Given the description of an element on the screen output the (x, y) to click on. 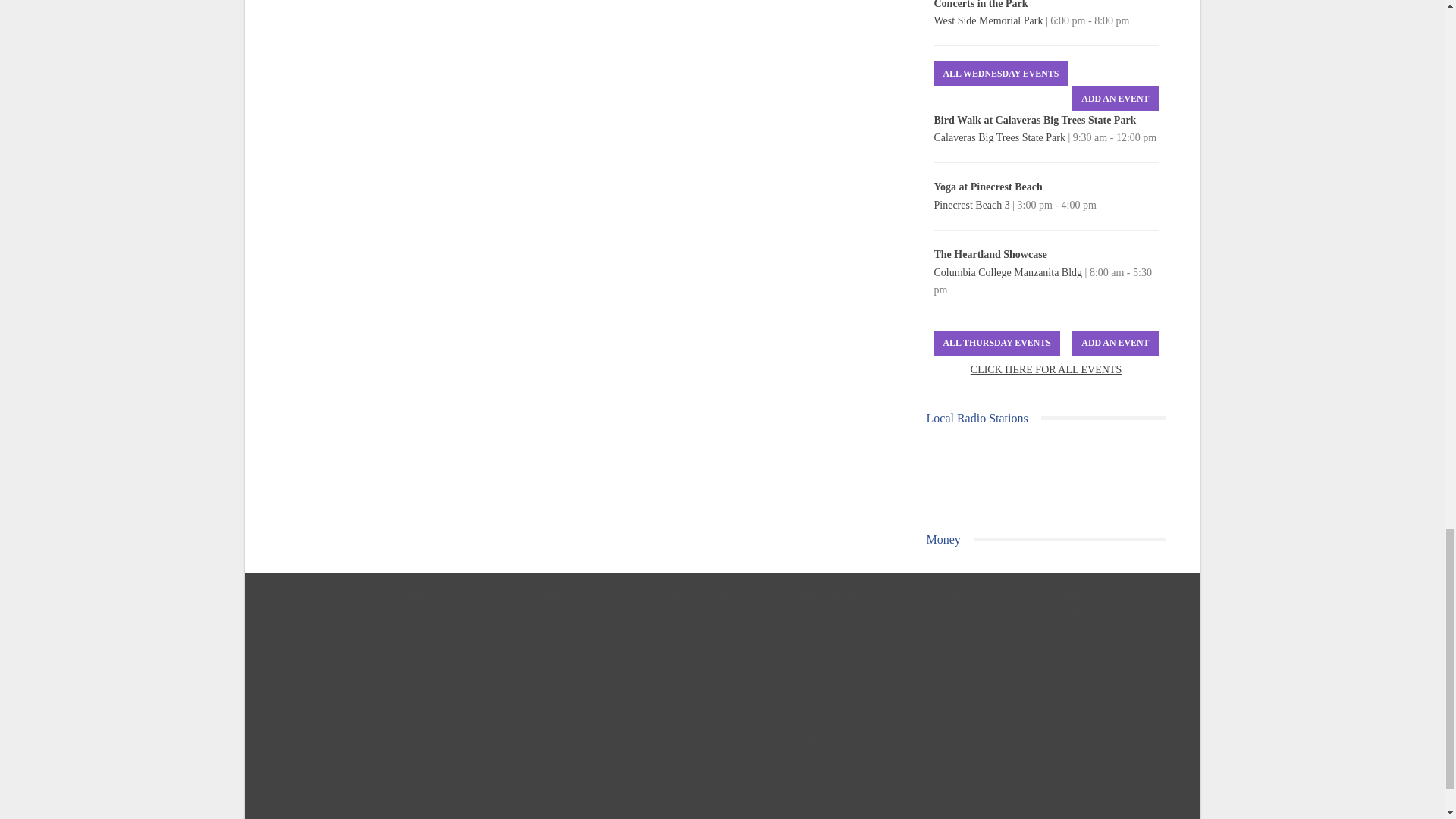
All Thursday Events (996, 342)
Add An Event (1114, 342)
All Wednesday Events (1001, 73)
Add An Event (1114, 98)
